Given the description of an element on the screen output the (x, y) to click on. 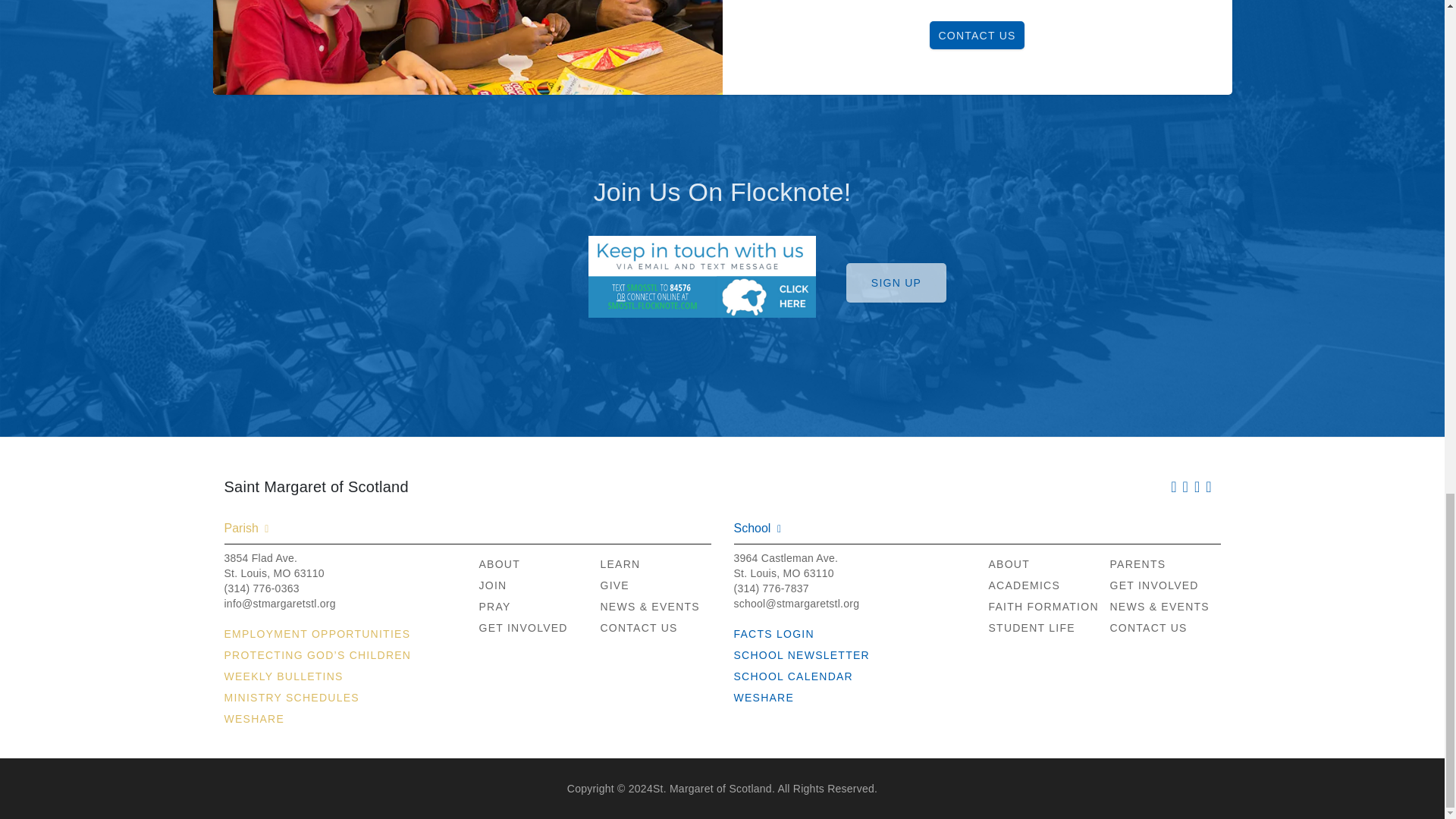
Sign Up (895, 282)
